Given the description of an element on the screen output the (x, y) to click on. 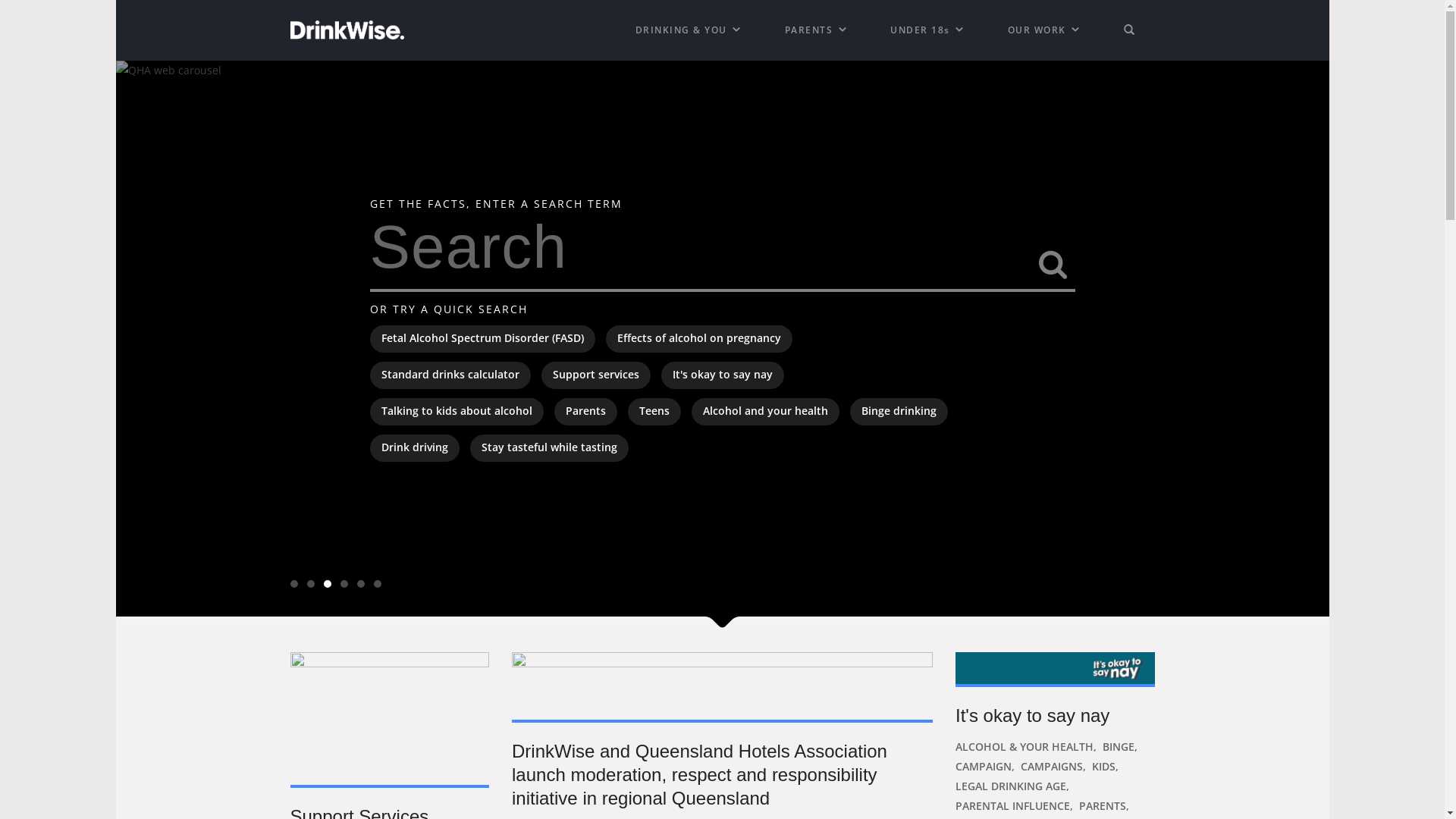
It's okay to say nay Element type: text (1054, 715)
PARENTS Element type: text (817, 30)
6 Element type: text (376, 583)
4 Element type: text (343, 583)
Standard drinks calculator Element type: text (450, 375)
It's okay to say nay Element type: text (722, 375)
Alcohol and your health Element type: text (765, 411)
LEGAL DRINKING AGE Element type: text (1010, 785)
ALCOHOL & YOUR HEALTH Element type: text (1024, 746)
PARENTS Element type: text (1102, 805)
CAMPAIGNS Element type: text (1051, 766)
1 Element type: text (293, 583)
Talking to kids about alcohol Element type: text (456, 411)
Parents Element type: text (584, 411)
Stay tasteful while tasting Element type: text (549, 447)
Find out more Element type: hover (1054, 668)
Pregnancy test image Element type: hover (721, 70)
5 Element type: text (360, 583)
OUR WORK Element type: text (1045, 30)
KIDS Element type: text (1103, 766)
Support services Element type: text (595, 375)
DRINKING & YOU Element type: text (688, 30)
Teens Element type: text (653, 411)
3 Element type: text (326, 583)
BINGE Element type: text (1118, 746)
Find out more Element type: hover (389, 718)
UNDER 18s Element type: text (928, 30)
Binge drinking Element type: text (898, 411)
2 Element type: text (309, 583)
CAMPAIGN Element type: text (983, 766)
Fetal Alcohol Spectrum Disorder (FASD) Element type: text (482, 338)
Drink driving Element type: text (414, 447)
PARENTAL INFLUENCE Element type: text (1012, 805)
Effects of alcohol on pregnancy Element type: text (698, 338)
Find out more Element type: hover (721, 685)
